Given the description of an element on the screen output the (x, y) to click on. 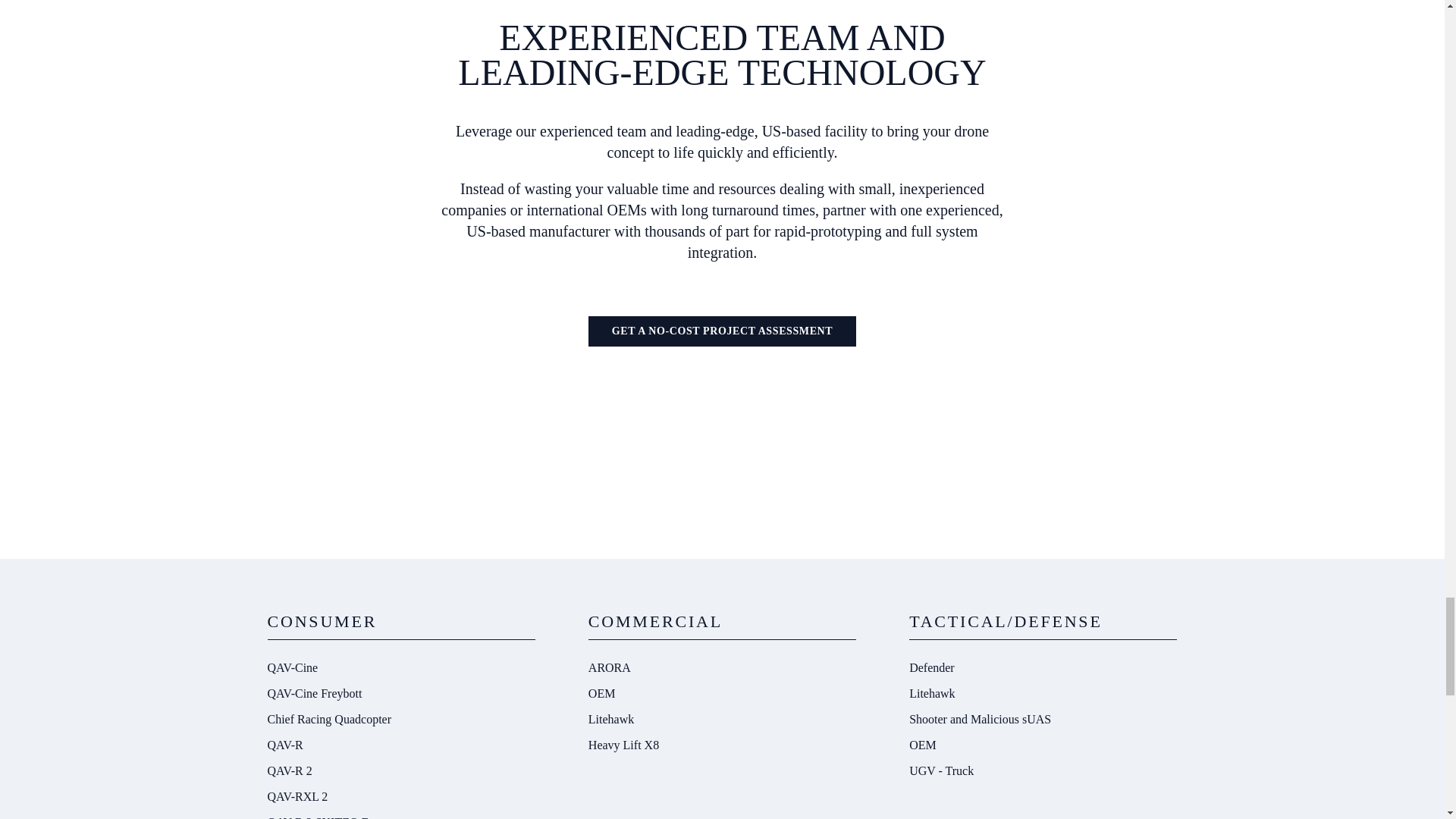
CONSUMER (321, 620)
QAV-Cine (400, 667)
QAV-RXL 2 (400, 796)
Chief Racing Quadcopter (400, 719)
QAV-R 2 SKITZO Frame (400, 814)
QAV-R 2 (400, 770)
GET A NO-COST PROJECT ASSESSMENT (722, 331)
QAV-Cine Freybott (400, 693)
QAV-R (400, 745)
